Given the description of an element on the screen output the (x, y) to click on. 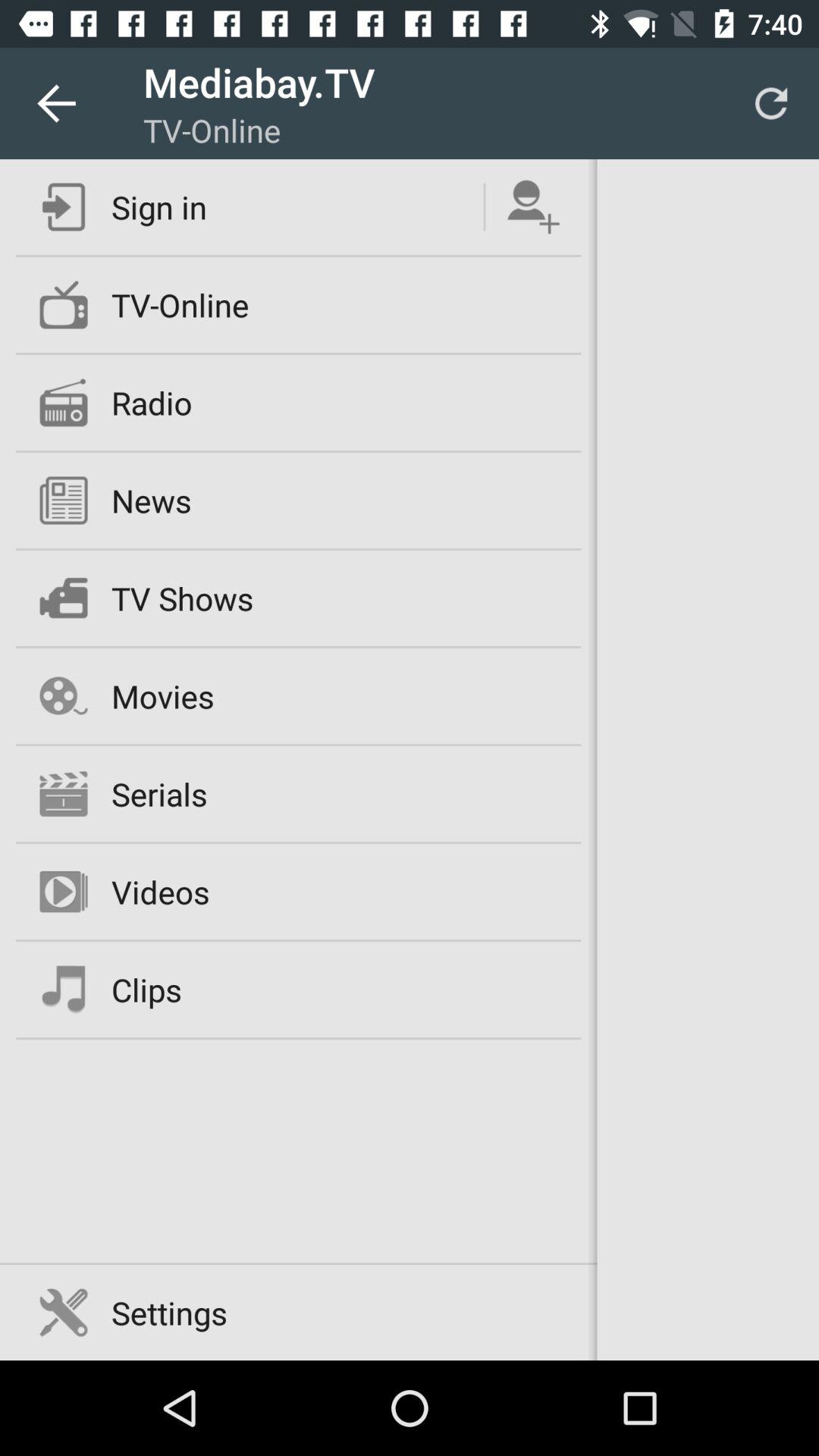
launch the radio icon (151, 402)
